Given the description of an element on the screen output the (x, y) to click on. 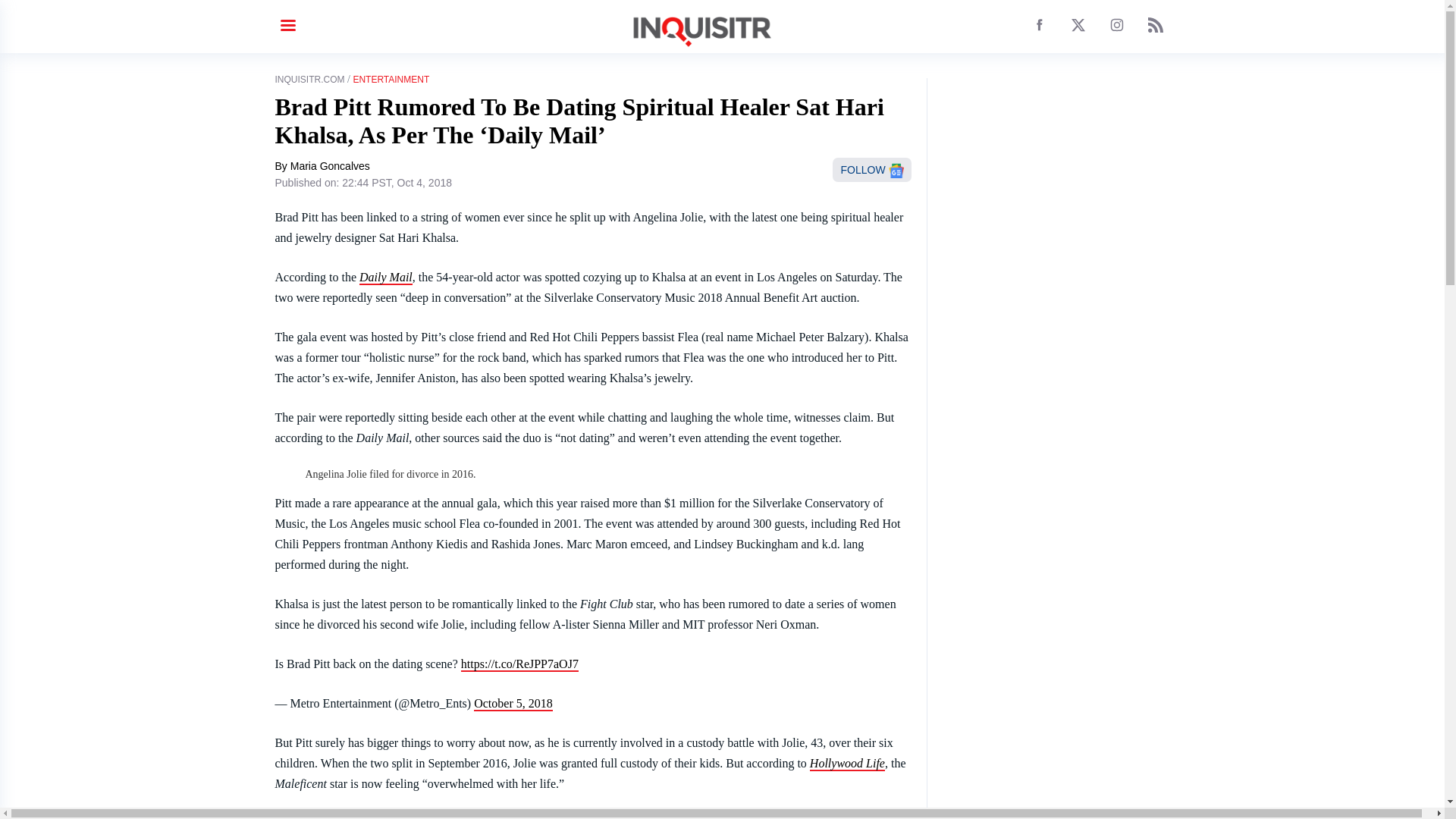
ENTERTAINMENT (390, 79)
INQUISITR.COM (309, 79)
